Given the description of an element on the screen output the (x, y) to click on. 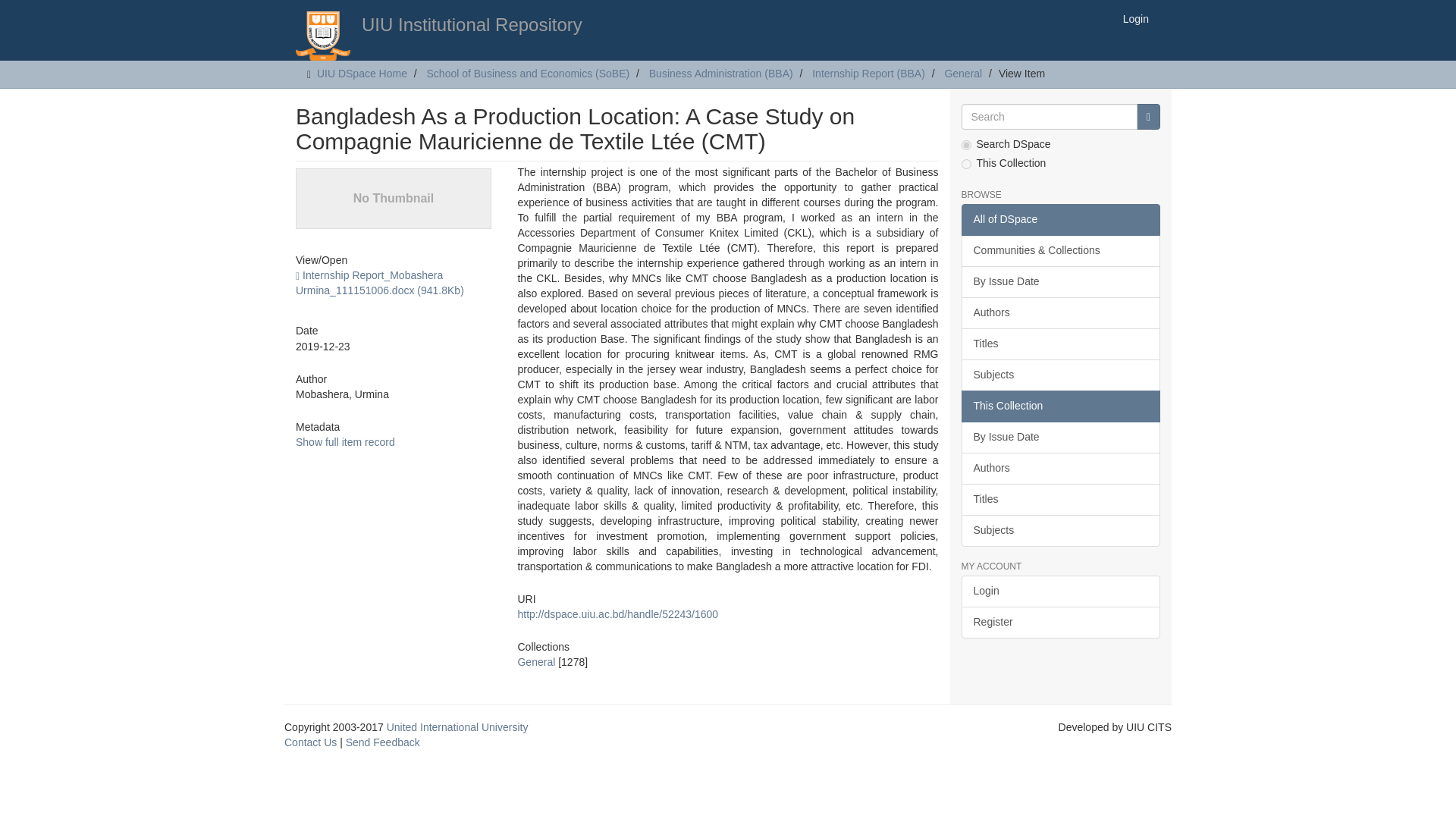
Show full item record (344, 441)
Titles (1060, 499)
Go (1148, 116)
General (962, 73)
All of DSpace (1060, 219)
Login (1060, 591)
Authors (1060, 313)
Subjects (1060, 531)
By Issue Date (1060, 282)
By Issue Date (1060, 437)
